Given the description of an element on the screen output the (x, y) to click on. 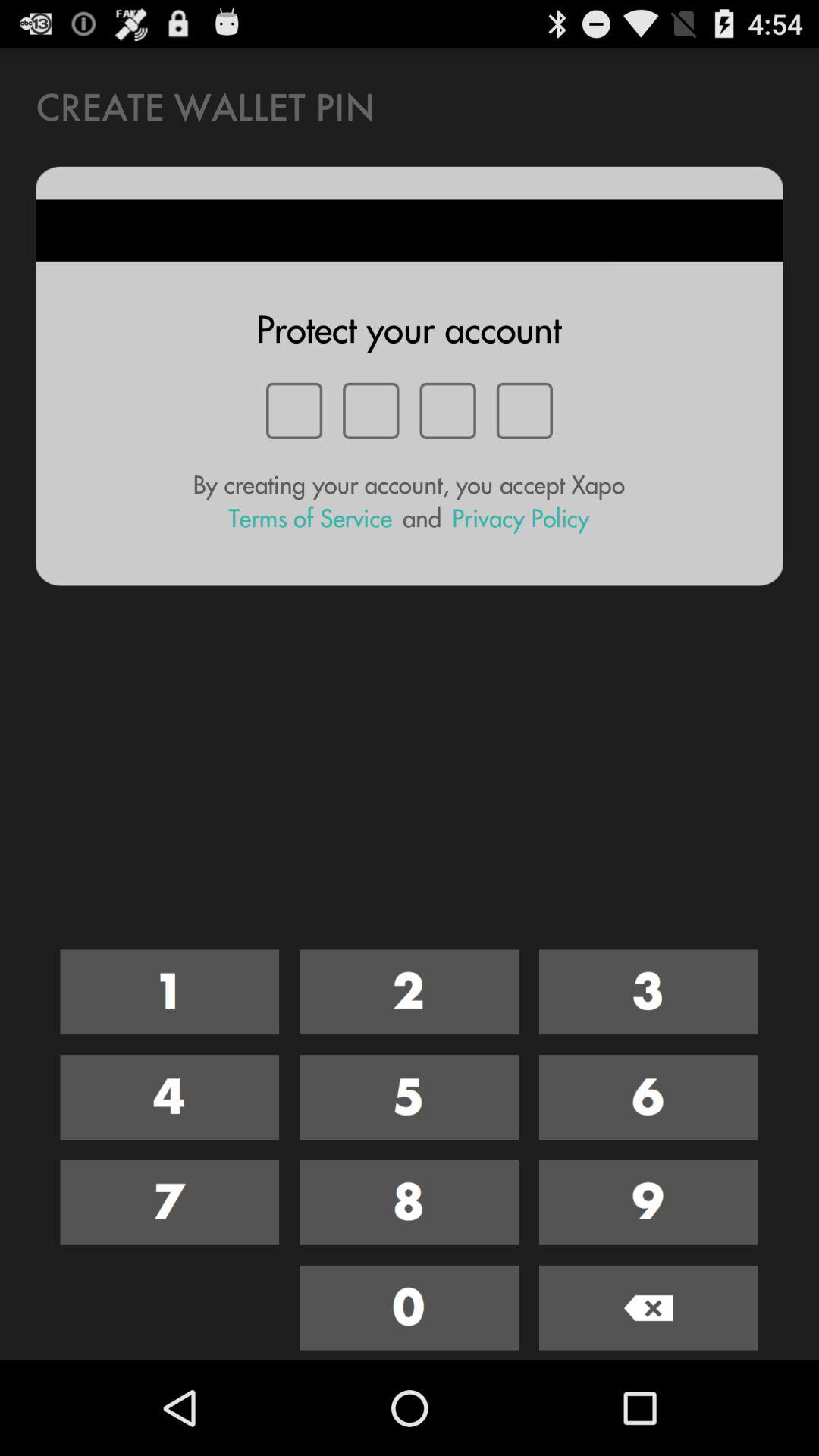
number 2 button (408, 991)
